Given the description of an element on the screen output the (x, y) to click on. 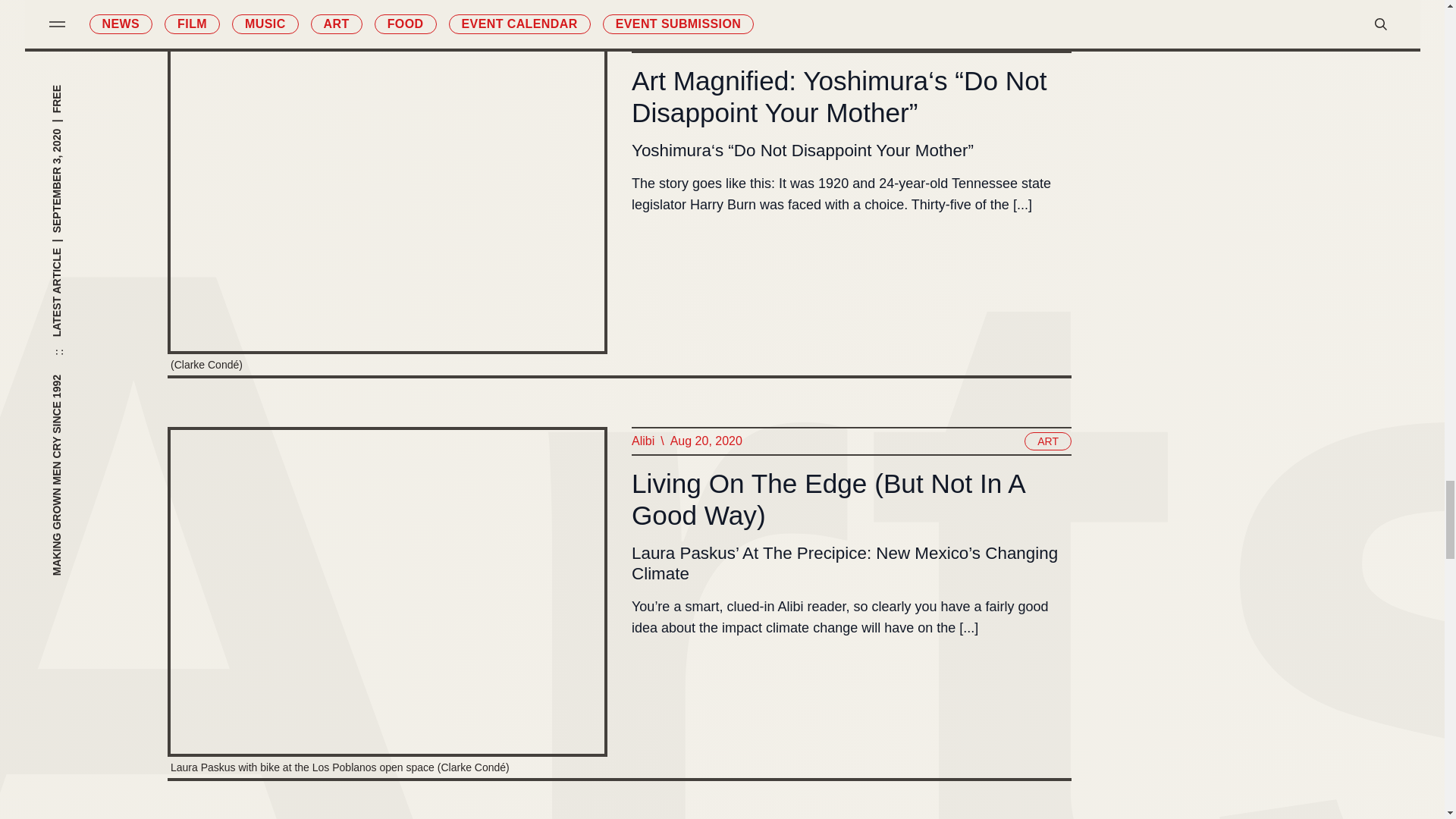
ART (1048, 38)
Alibi (641, 441)
ART (1048, 441)
Clarke Conde (667, 38)
